Given the description of an element on the screen output the (x, y) to click on. 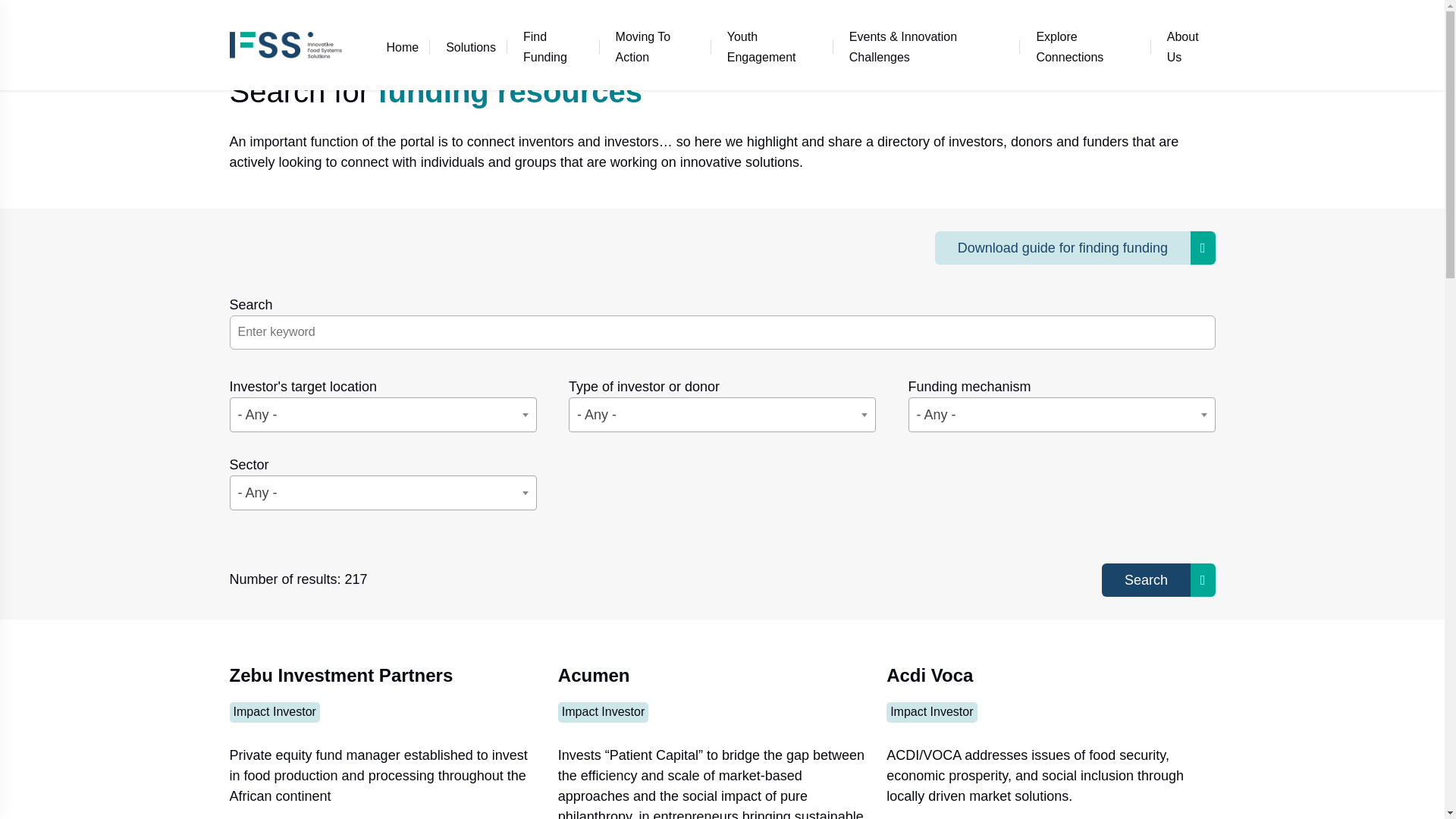
Solutions (469, 46)
Home (401, 46)
Find Funding (555, 46)
About Us (1184, 46)
Youth Engagement (774, 46)
Explore Connections (1087, 46)
Events (929, 46)
Moving To Action (657, 46)
About us (1184, 46)
Solutions (469, 46)
Find Funding (555, 46)
Moving to action (657, 46)
